Given the description of an element on the screen output the (x, y) to click on. 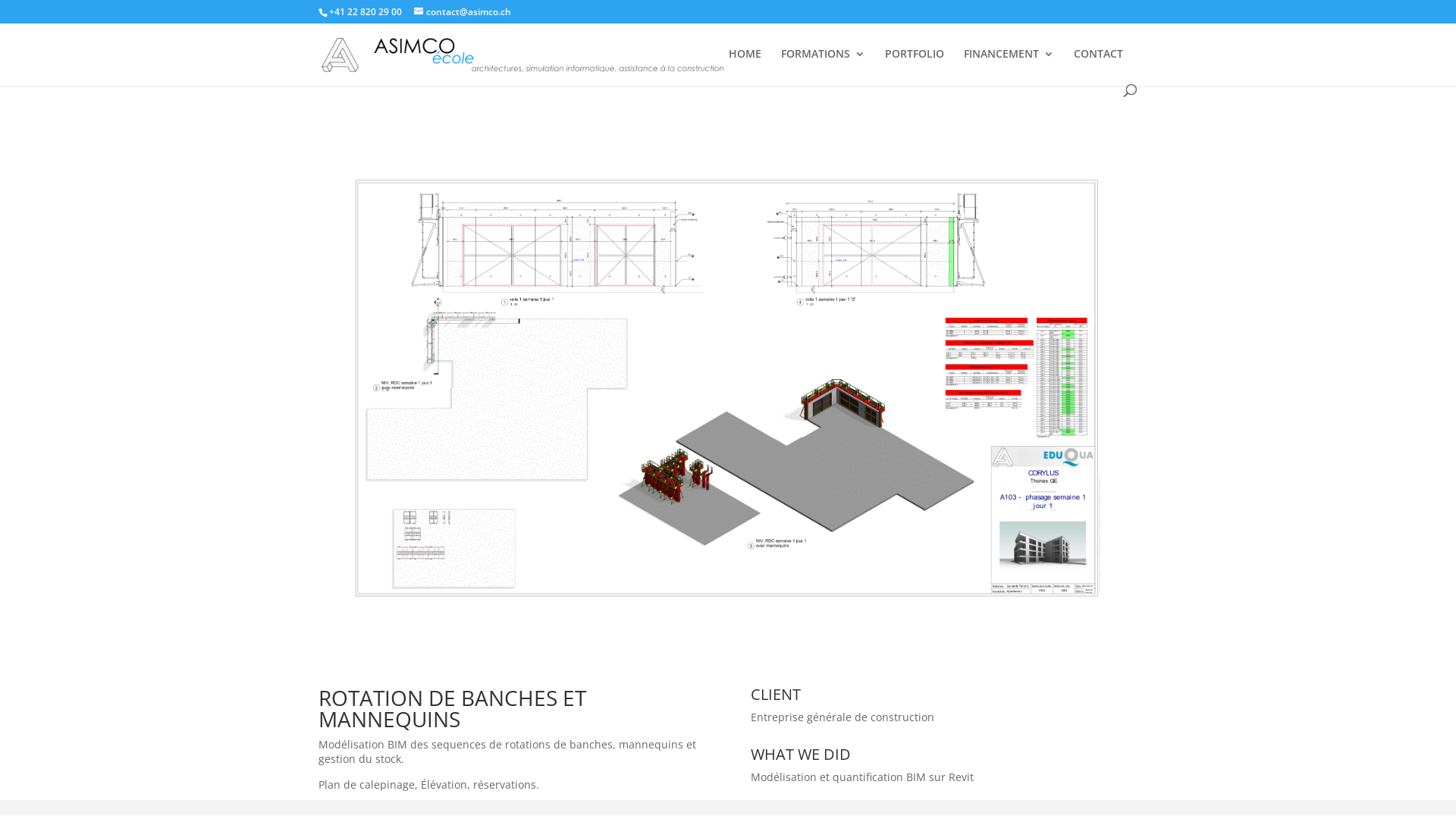
FORMATIONS Element type: text (823, 66)
3 Element type: text (696, 684)
01 Element type: hover (727, 677)
HOME Element type: text (744, 66)
5 Element type: text (721, 684)
CONTACT Element type: text (1098, 66)
contact@asimco.ch Element type: text (462, 11)
4 Element type: text (709, 684)
6 Element type: text (734, 684)
1 Element type: text (670, 684)
FINANCEMENT Element type: text (1008, 66)
7 Element type: text (747, 684)
8 Element type: text (760, 684)
9 Element type: text (778, 649)
2 Element type: text (683, 684)
PORTFOLIO Element type: text (914, 66)
